Given the description of an element on the screen output the (x, y) to click on. 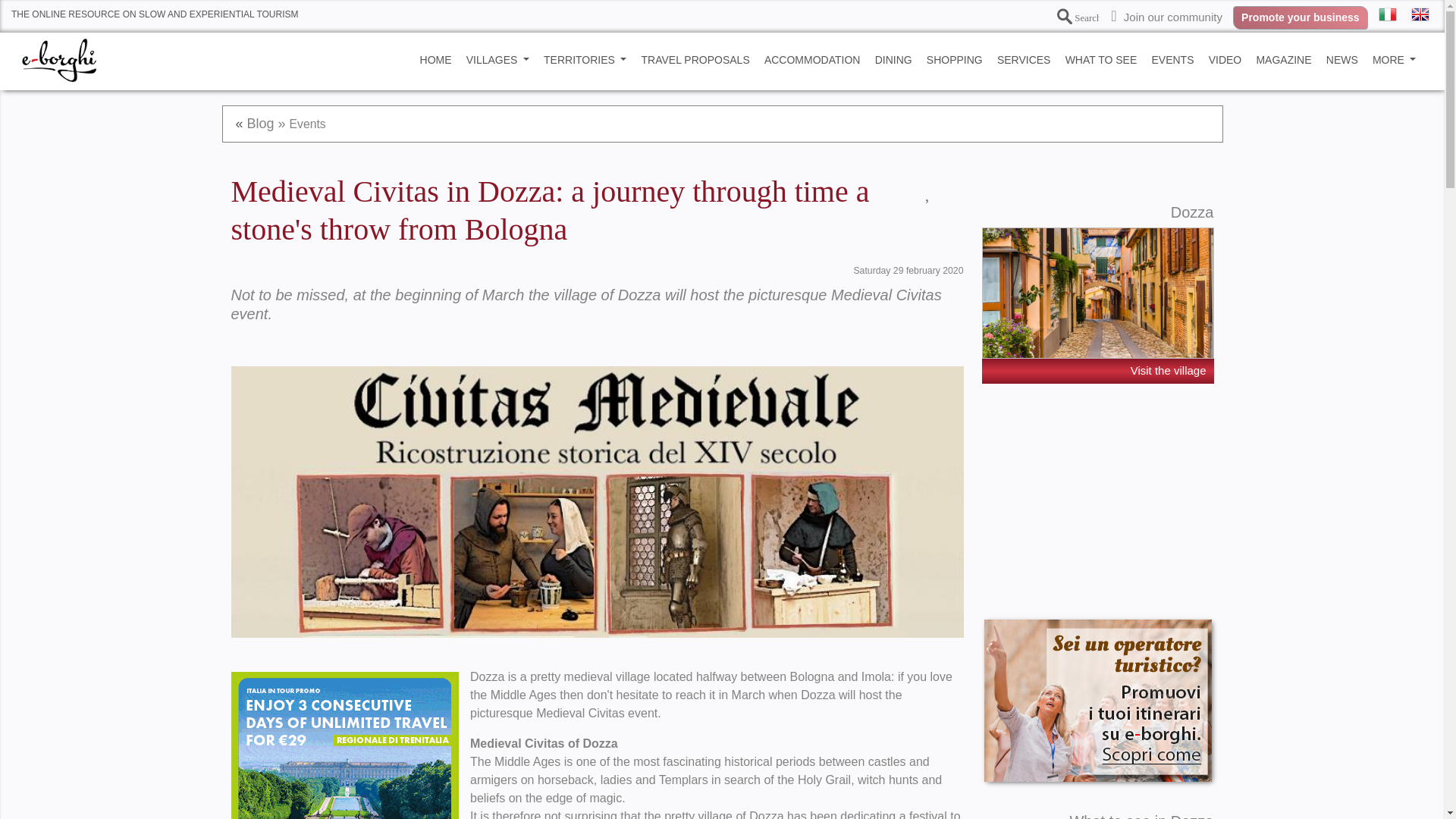
Promote your business (1300, 17)
Promote your business (1300, 17)
TERRITORIES (585, 59)
VILLAGES (497, 59)
HOME (435, 59)
